Given the description of an element on the screen output the (x, y) to click on. 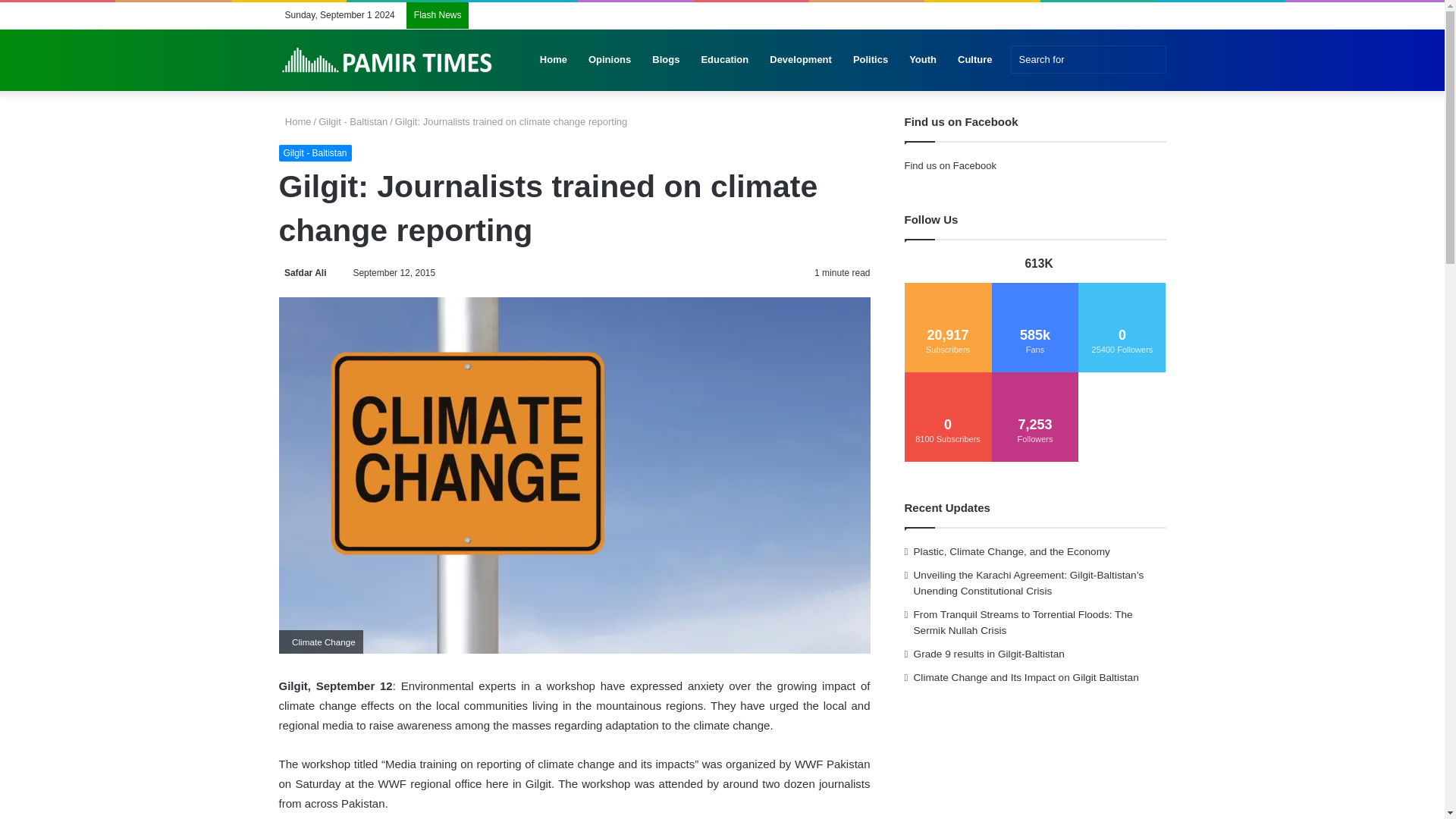
Opinions (610, 59)
Culture (975, 59)
Education (724, 59)
Gilgit - Baltistan (352, 121)
Gilgit - Baltistan (315, 152)
Search for (1088, 59)
Politics (870, 59)
Home (295, 121)
Development (800, 59)
PAMIR TIMES (387, 60)
